Given the description of an element on the screen output the (x, y) to click on. 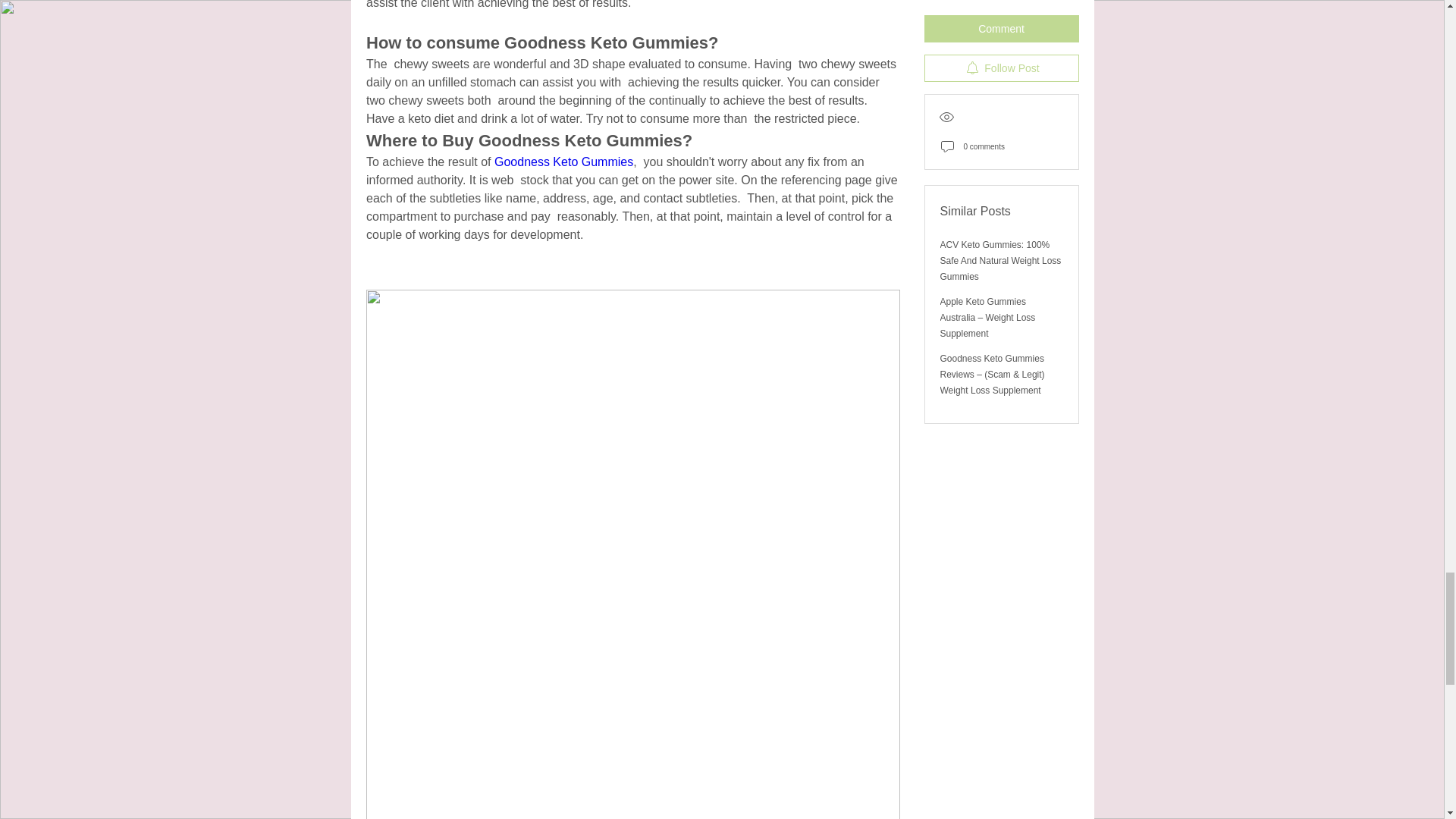
Goodness Keto Gummies (562, 161)
